Given the description of an element on the screen output the (x, y) to click on. 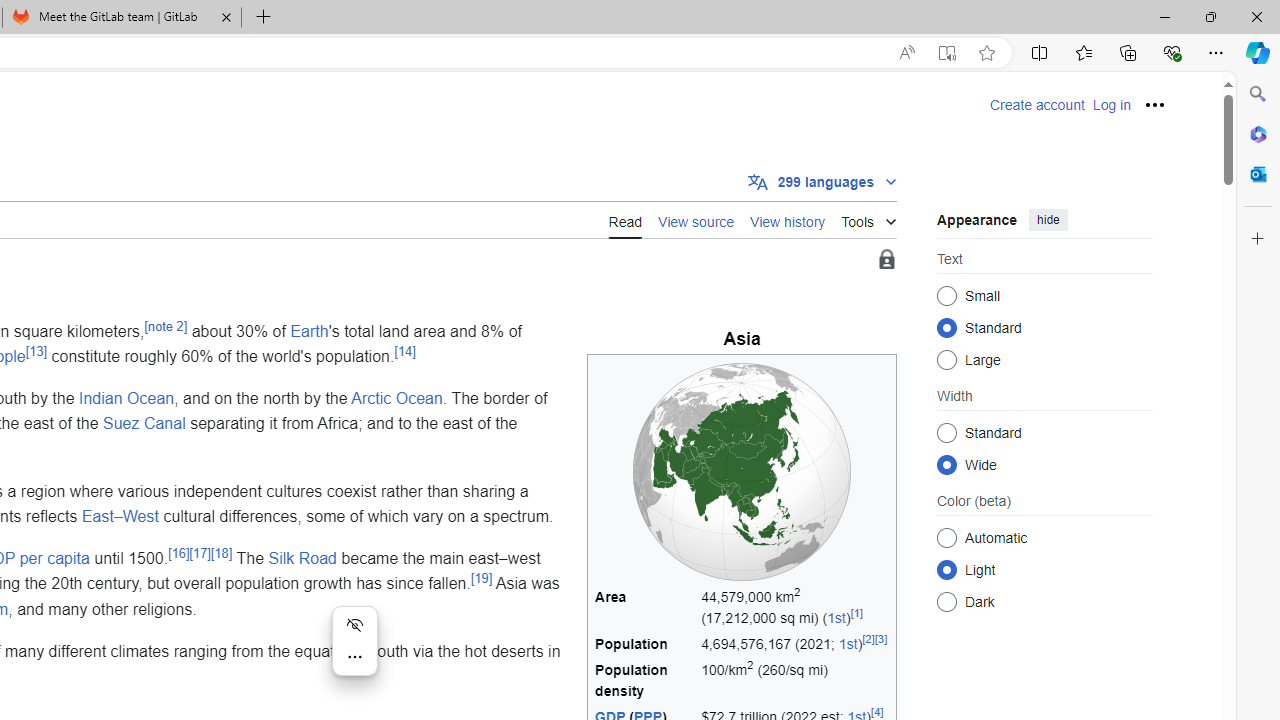
hide (1048, 219)
Arctic Ocean (396, 397)
Create account (1037, 105)
[14] (405, 350)
Suez Canal (143, 423)
Large (946, 359)
View history (787, 219)
Page semi-protected (886, 259)
4,694,576,167 (2021; 1st)[2][3] (795, 643)
[16] (178, 552)
